Given the description of an element on the screen output the (x, y) to click on. 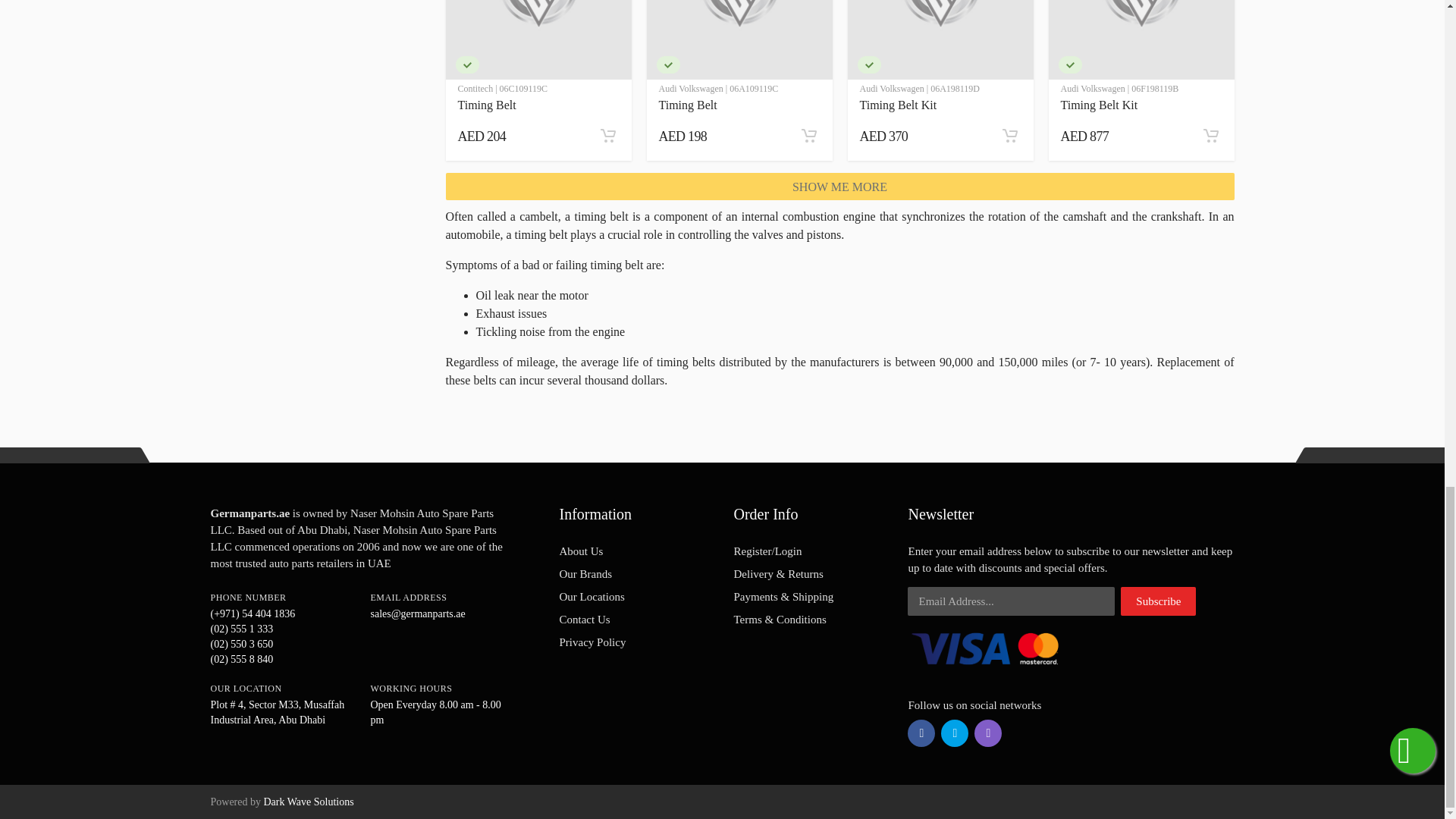
06A109119C (667, 64)
06A198119D (868, 64)
06F198119B (1069, 64)
06C109119C (466, 64)
